Given the description of an element on the screen output the (x, y) to click on. 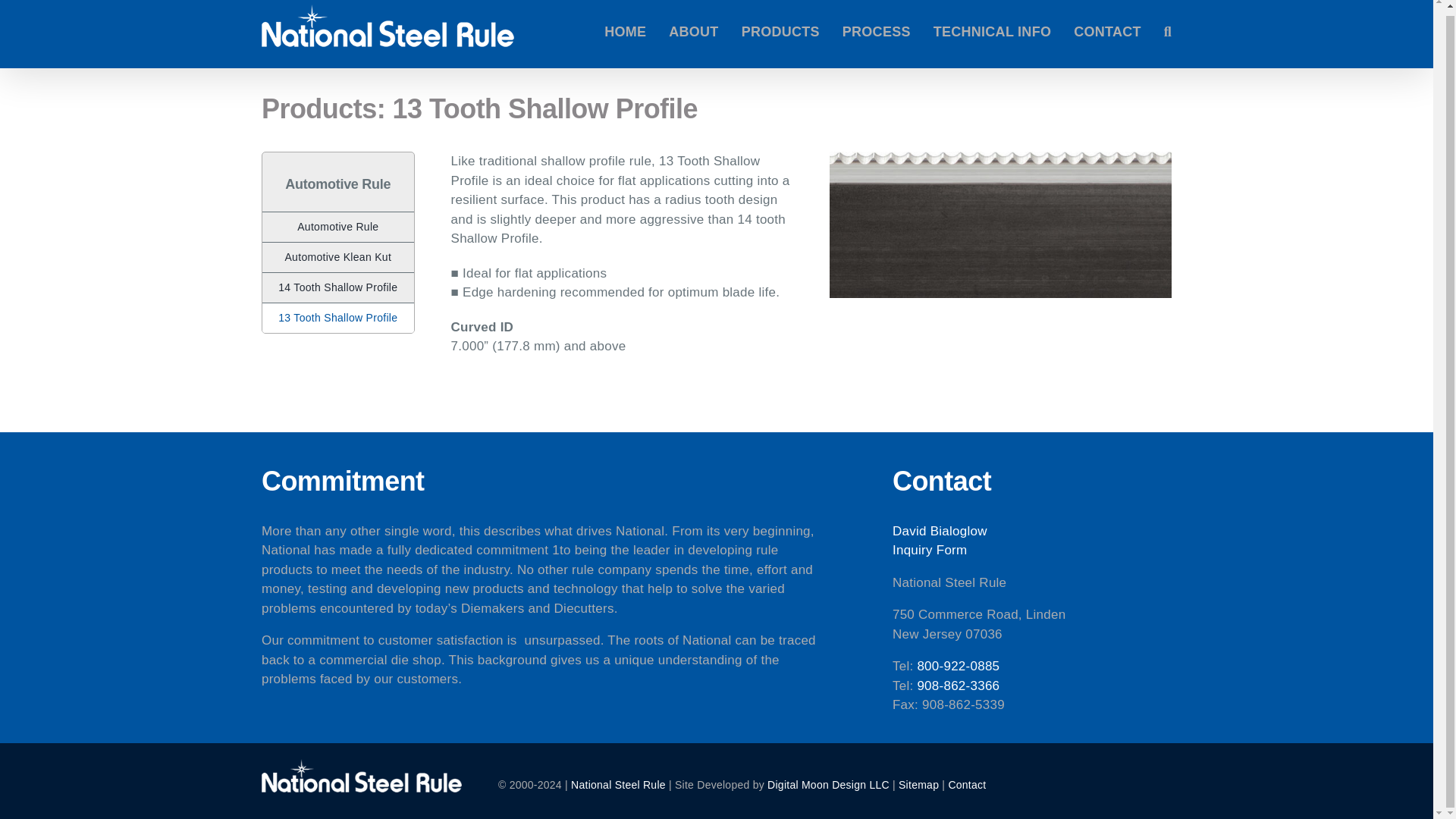
CONTACT (1107, 33)
PROCESS (877, 33)
PRODUCTS (780, 33)
TECHNICAL INFO (992, 33)
